Given the description of an element on the screen output the (x, y) to click on. 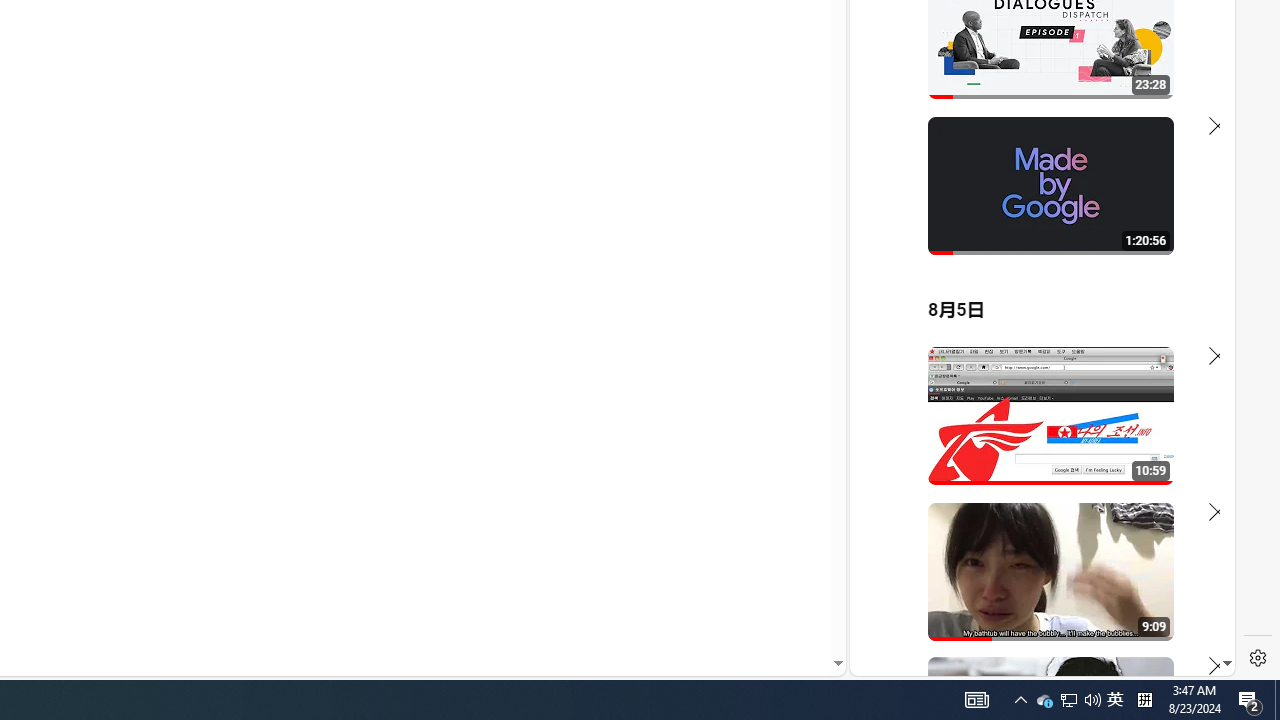
Actions for this site (1131, 443)
Action Center, 2 new notifications (1250, 699)
YouTube - YouTube (1069, 699)
#you (1115, 699)
Notification Chevron (1034, 266)
Q2790: 100% (1034, 439)
User Promoted Notification Area (1020, 699)
Class: dict_pnIcon rms_img (1092, 699)
you (1068, 699)
